Given the description of an element on the screen output the (x, y) to click on. 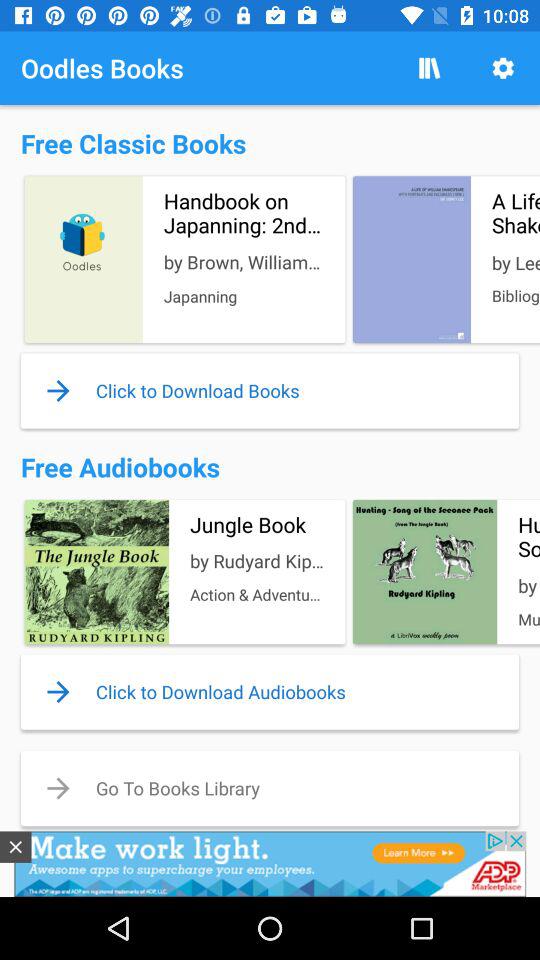
click on the bottom of second text (269, 691)
click on go to books library (269, 787)
click on the button above go to books library (269, 691)
click on blue color text above free audio books (269, 391)
